Given the description of an element on the screen output the (x, y) to click on. 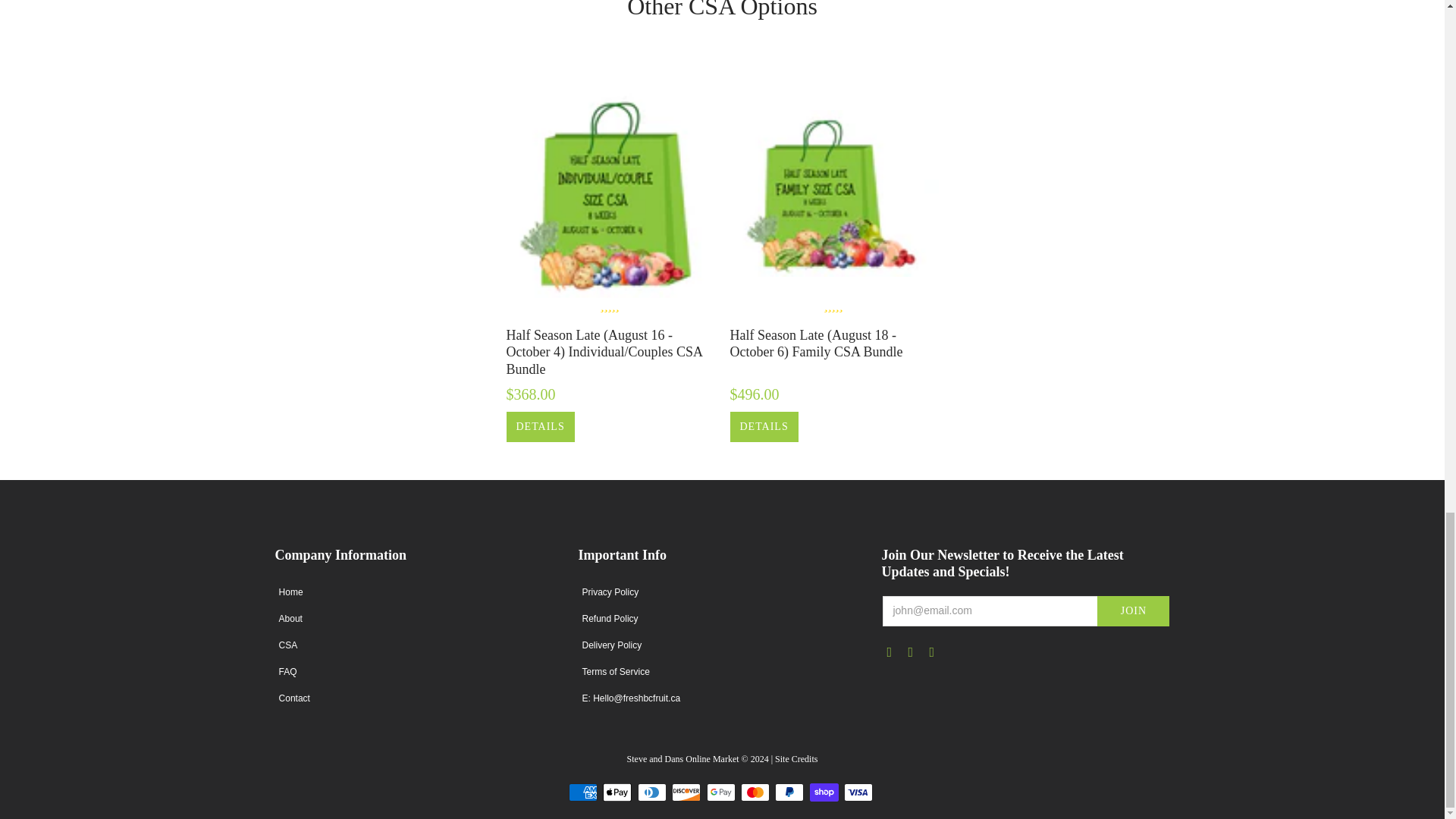
PayPal (788, 791)
Apple Pay (616, 791)
Shop Pay (823, 791)
Diners Club (651, 791)
American Express (582, 791)
Join (1133, 611)
Mastercard (755, 791)
Discover (685, 791)
Google Pay (720, 791)
Visa (858, 791)
